Given the description of an element on the screen output the (x, y) to click on. 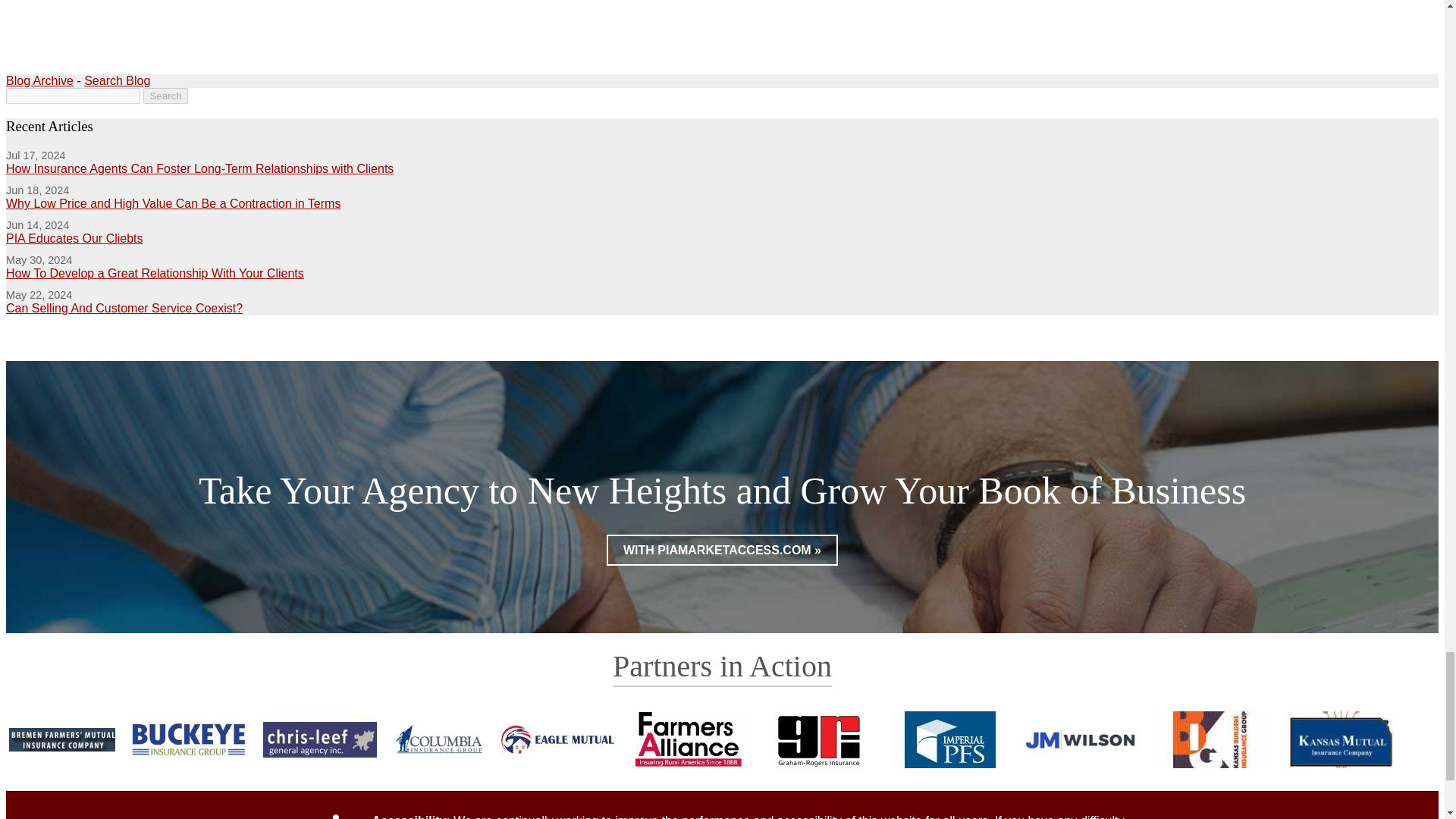
Search (164, 95)
